Given the description of an element on the screen output the (x, y) to click on. 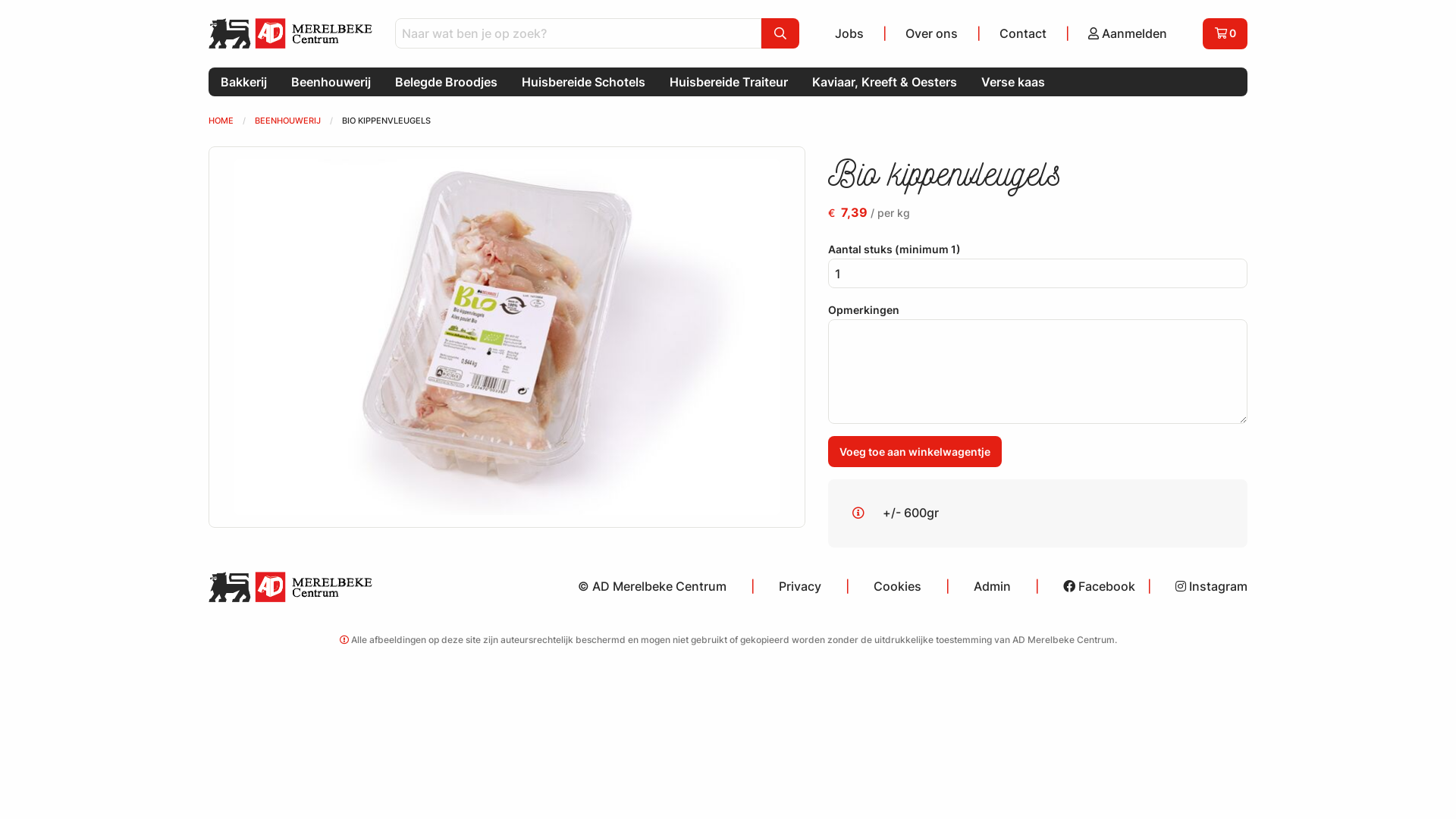
Belegde Broodjes Element type: text (445, 81)
Privacy Element type: text (799, 585)
Facebook Element type: text (1093, 585)
Beenhouwerij Element type: text (330, 81)
Contact Element type: text (1022, 33)
Cookies Element type: text (897, 585)
Bakkerij Element type: text (243, 81)
BEENHOUWERIJ Element type: text (287, 120)
Instagram Element type: text (1205, 585)
Huisbereide Schotels Element type: text (583, 81)
Jobs Element type: text (849, 33)
Aanmelden Element type: text (1127, 33)
Admin Element type: text (991, 585)
Over ons Element type: text (931, 33)
Verse kaas Element type: text (1013, 81)
Voeg toe aan winkelwagentje Element type: text (915, 451)
Huisbereide Traiteur Element type: text (728, 81)
HOME Element type: text (220, 120)
0 Element type: text (1224, 33)
Kaviaar, Kreeft & Oesters Element type: text (884, 81)
